Given the description of an element on the screen output the (x, y) to click on. 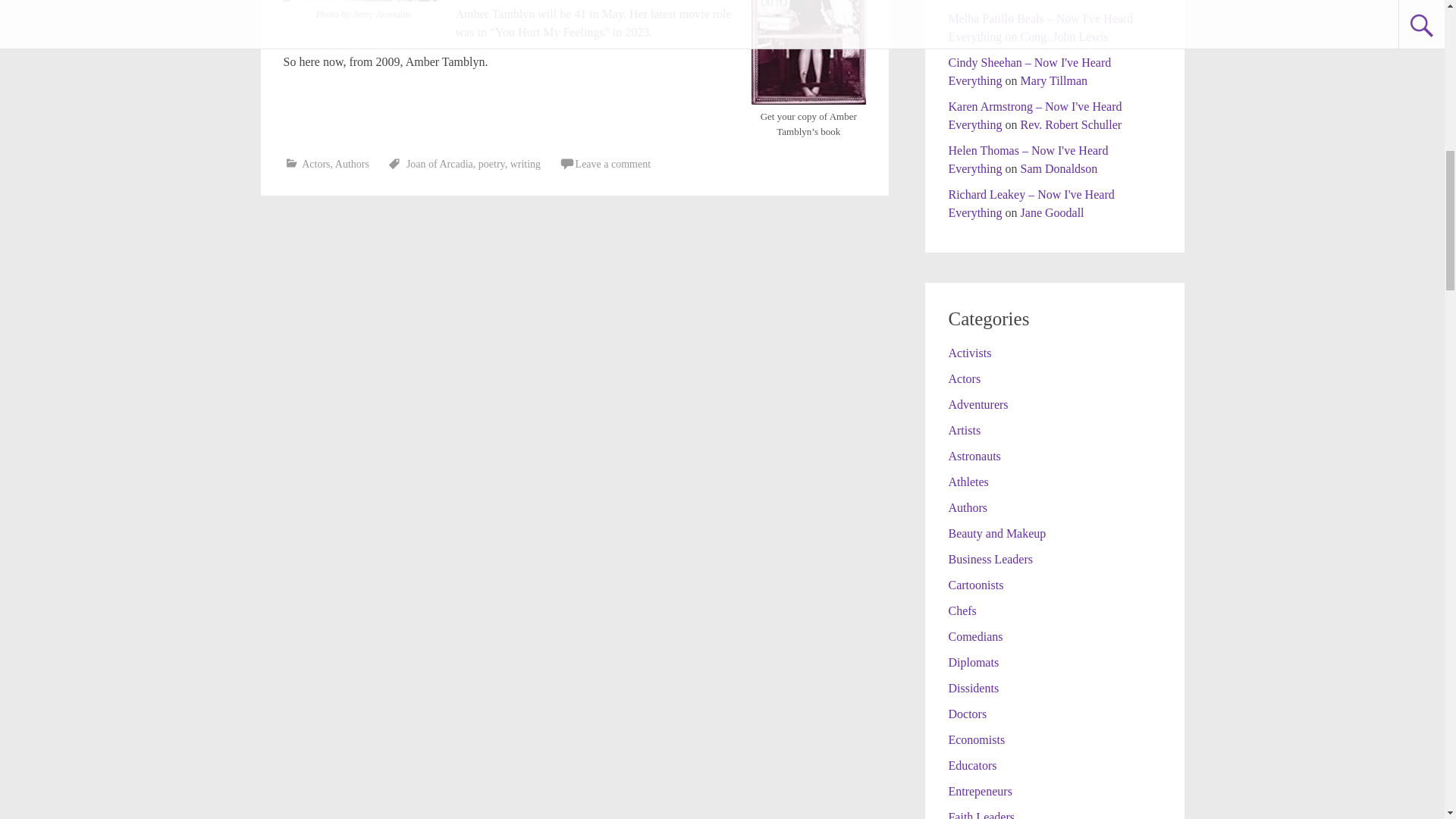
Mary Tillman (1053, 80)
Authors (351, 163)
Authors (967, 507)
writing (525, 163)
poetry (492, 163)
Activists (969, 352)
Actors (963, 378)
Astronauts (973, 455)
Sam Donaldson (1058, 168)
Jane Goodall (1052, 212)
Cartoonists (975, 584)
Leave a comment (612, 163)
Artists (963, 430)
Actors (315, 163)
Athletes (967, 481)
